Given the description of an element on the screen output the (x, y) to click on. 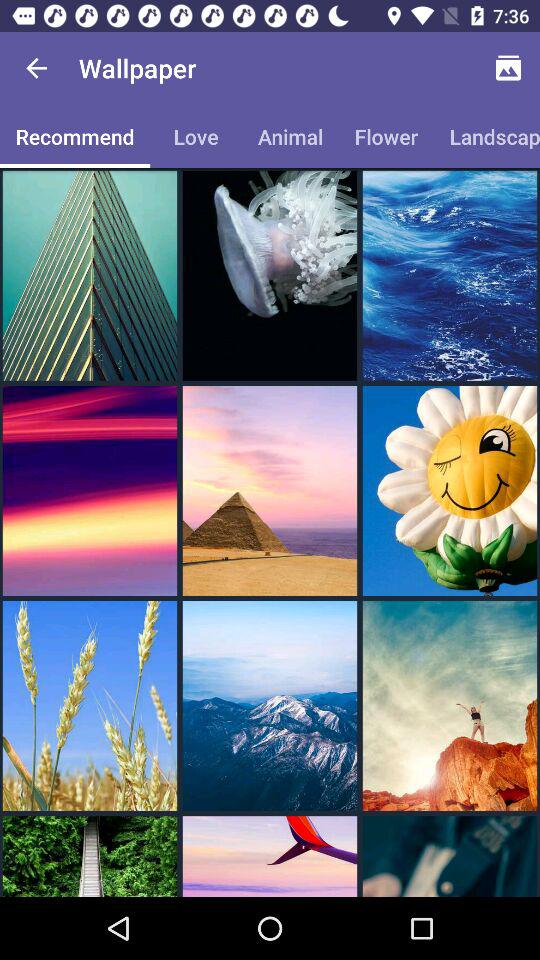
tap the icon above landscape item (508, 67)
